Given the description of an element on the screen output the (x, y) to click on. 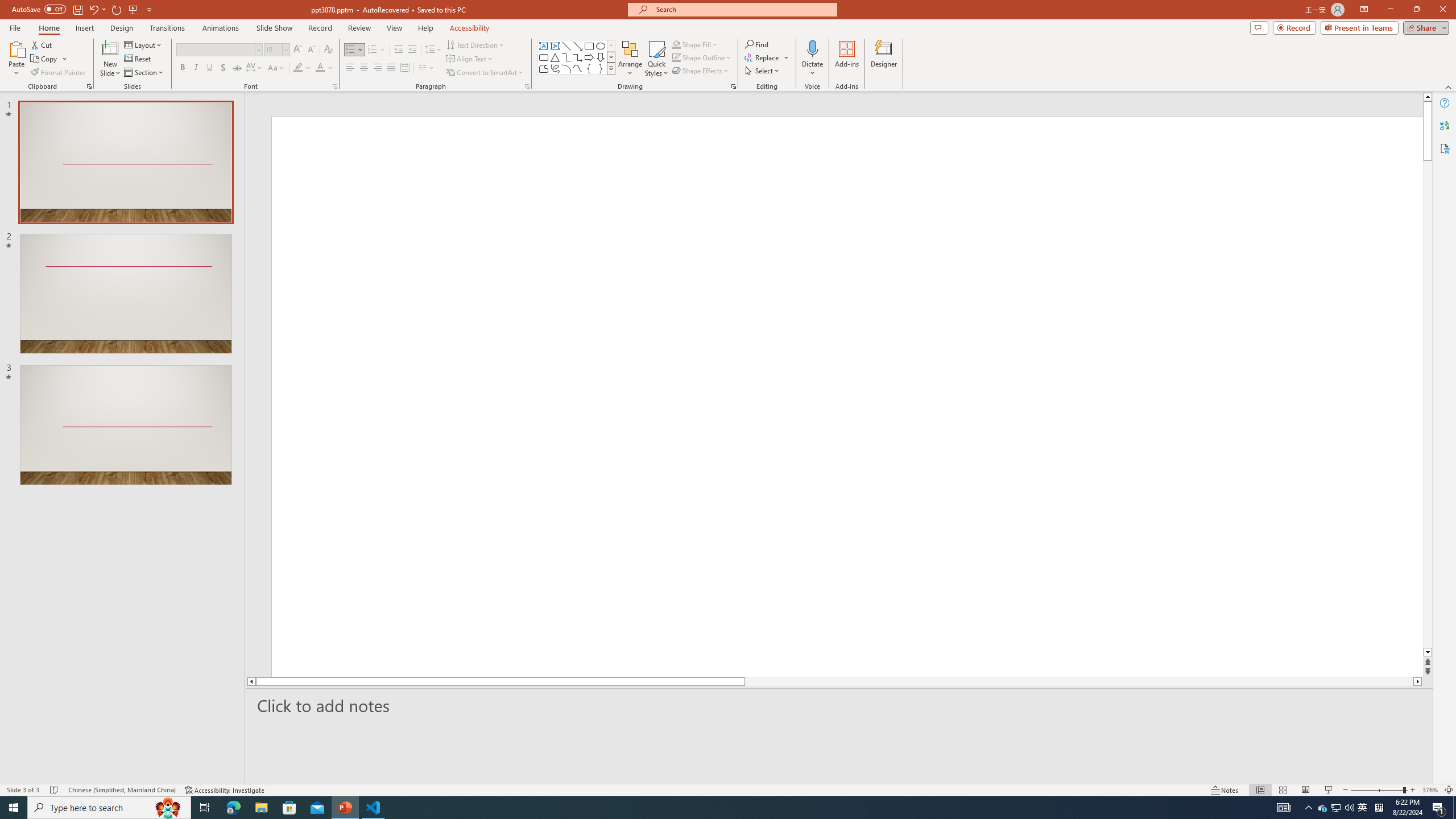
Zoom 376% (1430, 790)
